Given the description of an element on the screen output the (x, y) to click on. 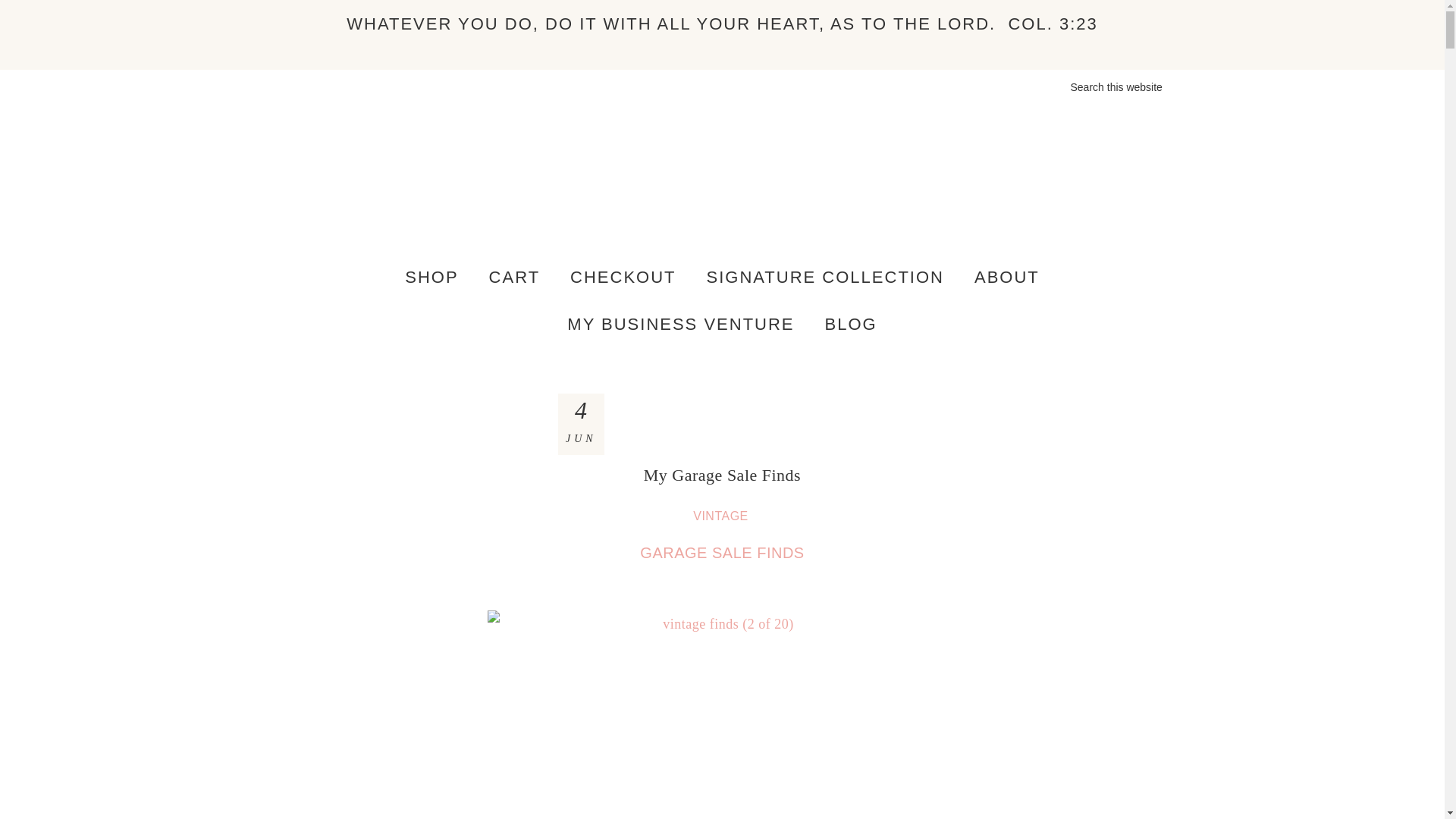
SHOP (431, 277)
ABOUT (1006, 277)
CHECKOUT (622, 277)
BLOG (850, 324)
VINTAGE (722, 515)
Store (431, 277)
CART (515, 277)
SIGNATURE COLLECTION (825, 277)
About (1006, 277)
MY BUSINESS VENTURE (680, 324)
SEW A FINE SEAM (722, 187)
